Given the description of an element on the screen output the (x, y) to click on. 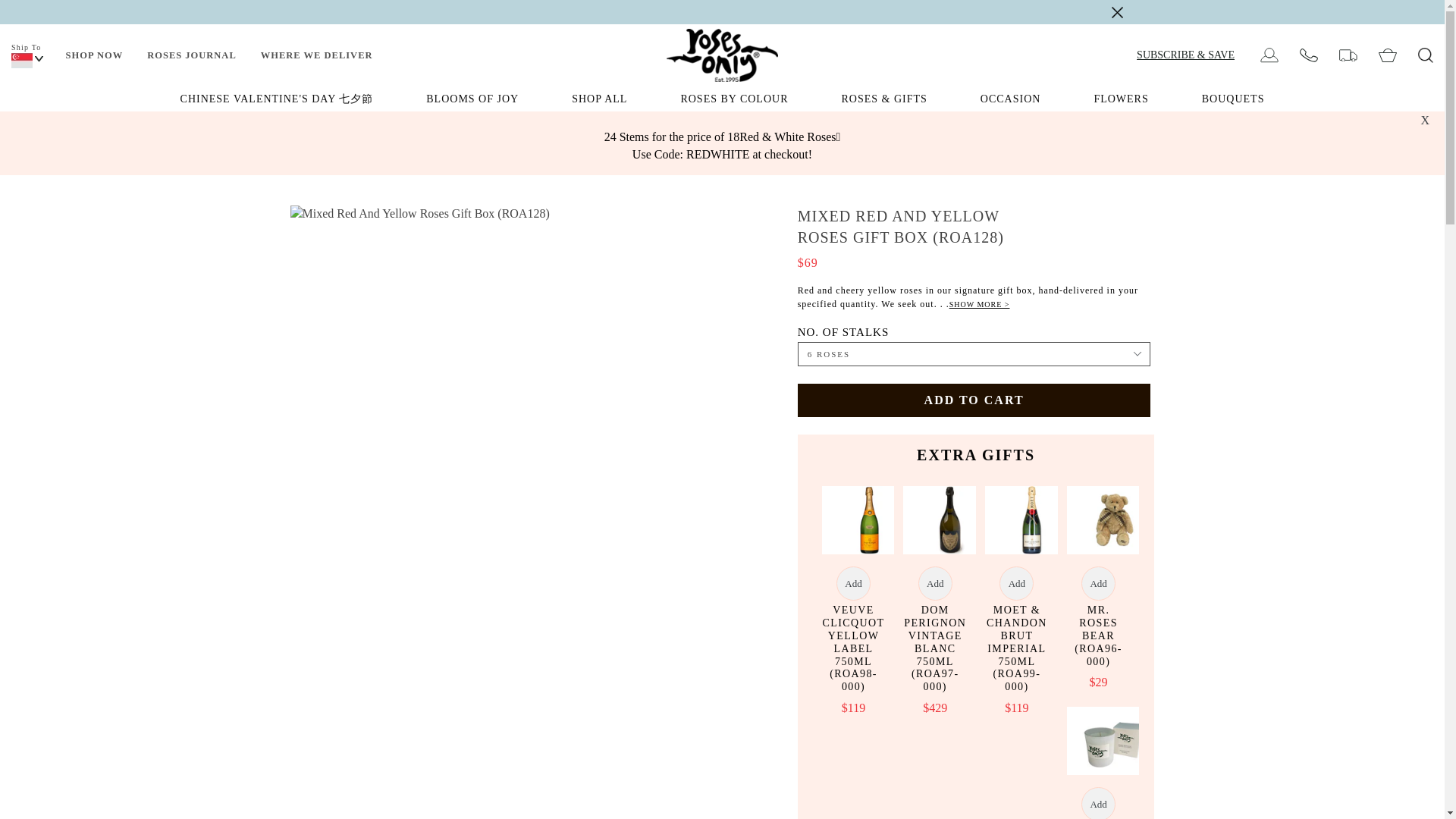
WHERE WE DELIVER (317, 55)
BLOOMS OF JOY (472, 98)
SHOP ALL (599, 98)
ROSES JOURNAL (191, 55)
SHOP NOW (94, 55)
